Given the description of an element on the screen output the (x, y) to click on. 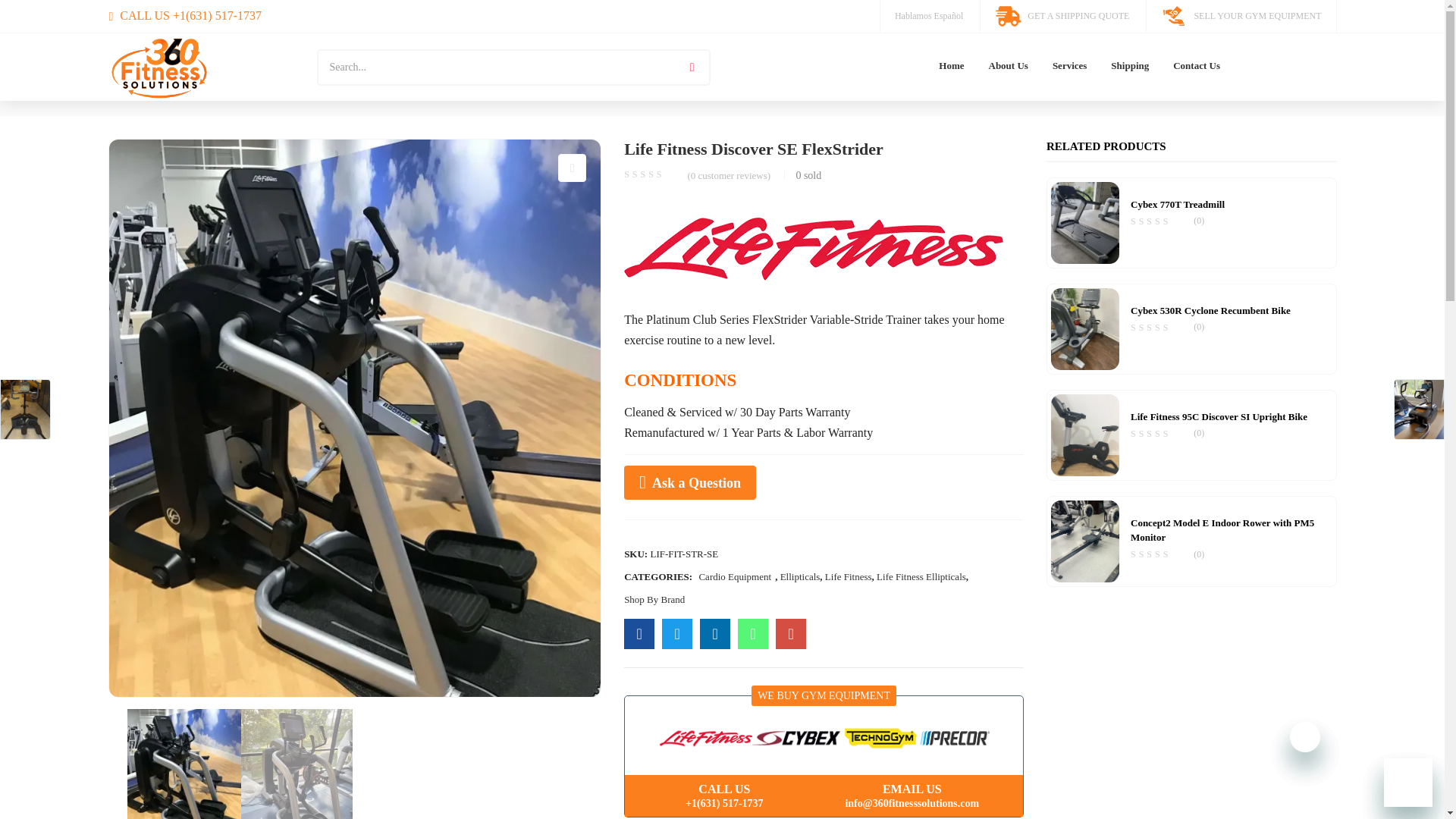
Life Fitness Discover SE FlexStrider (791, 634)
Concept2 Model E Indoor Rower with PM5 Monitor (1085, 539)
Life Fitness Discover SE FlexStrider (753, 634)
Contact Us (1195, 66)
Life Fitness Discover SE FlexStrider (638, 634)
Life Fitness 95C Discover SI Upright Bike (1085, 432)
Cybex 530R Cyclone Recumbent Bike (1085, 326)
Cybex 770T Treadmill (1085, 220)
Gym Equipment Brands (823, 737)
